Given the description of an element on the screen output the (x, y) to click on. 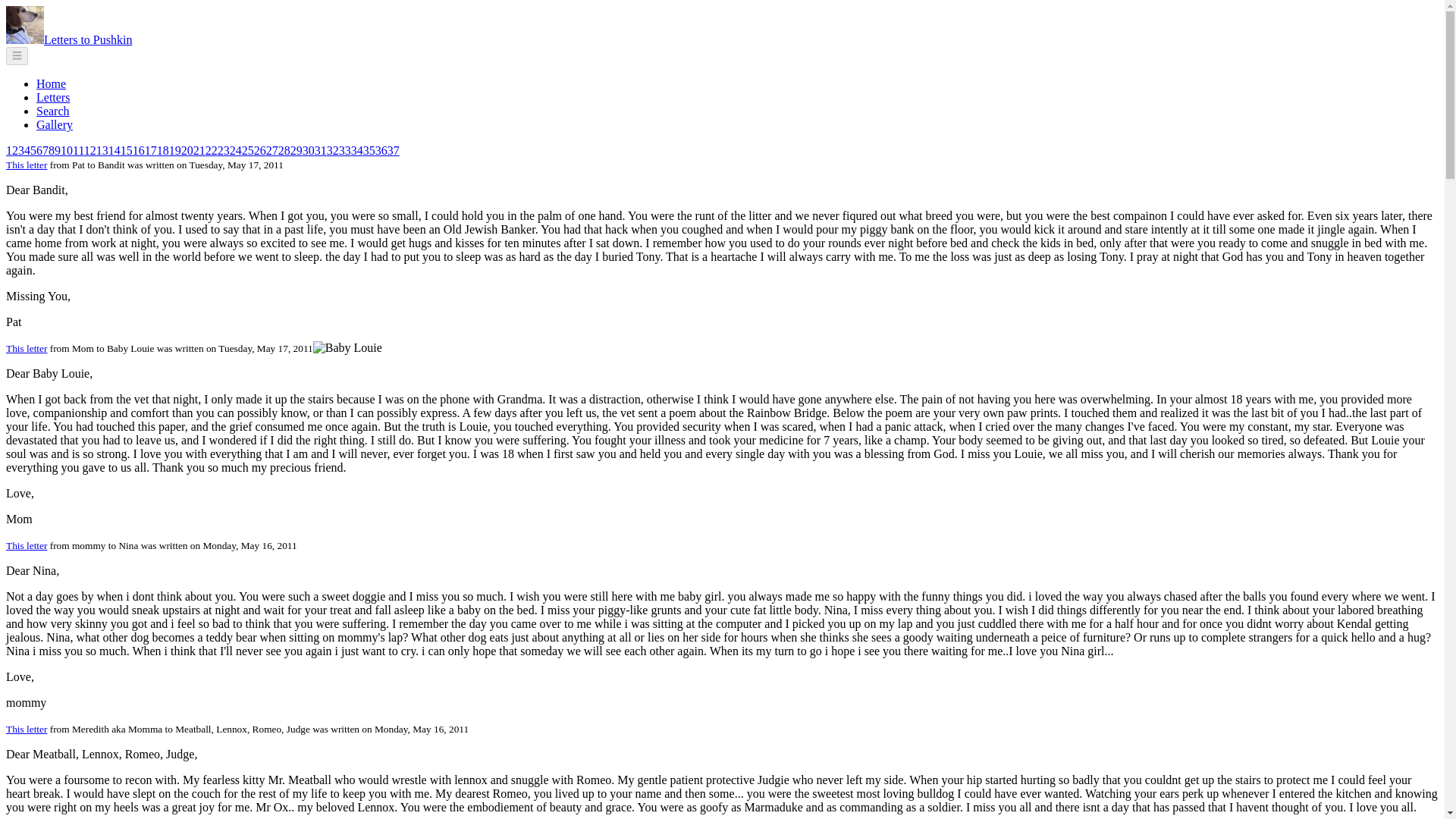
17 (150, 150)
13 (101, 150)
27 (272, 150)
Letters to Pushkin (87, 39)
24 (235, 150)
10 (66, 150)
25 (247, 150)
Home (50, 83)
19 (174, 150)
22 (210, 150)
15 (126, 150)
Gallery (54, 124)
33 (344, 150)
Letters (52, 97)
Search (52, 110)
